Given the description of an element on the screen output the (x, y) to click on. 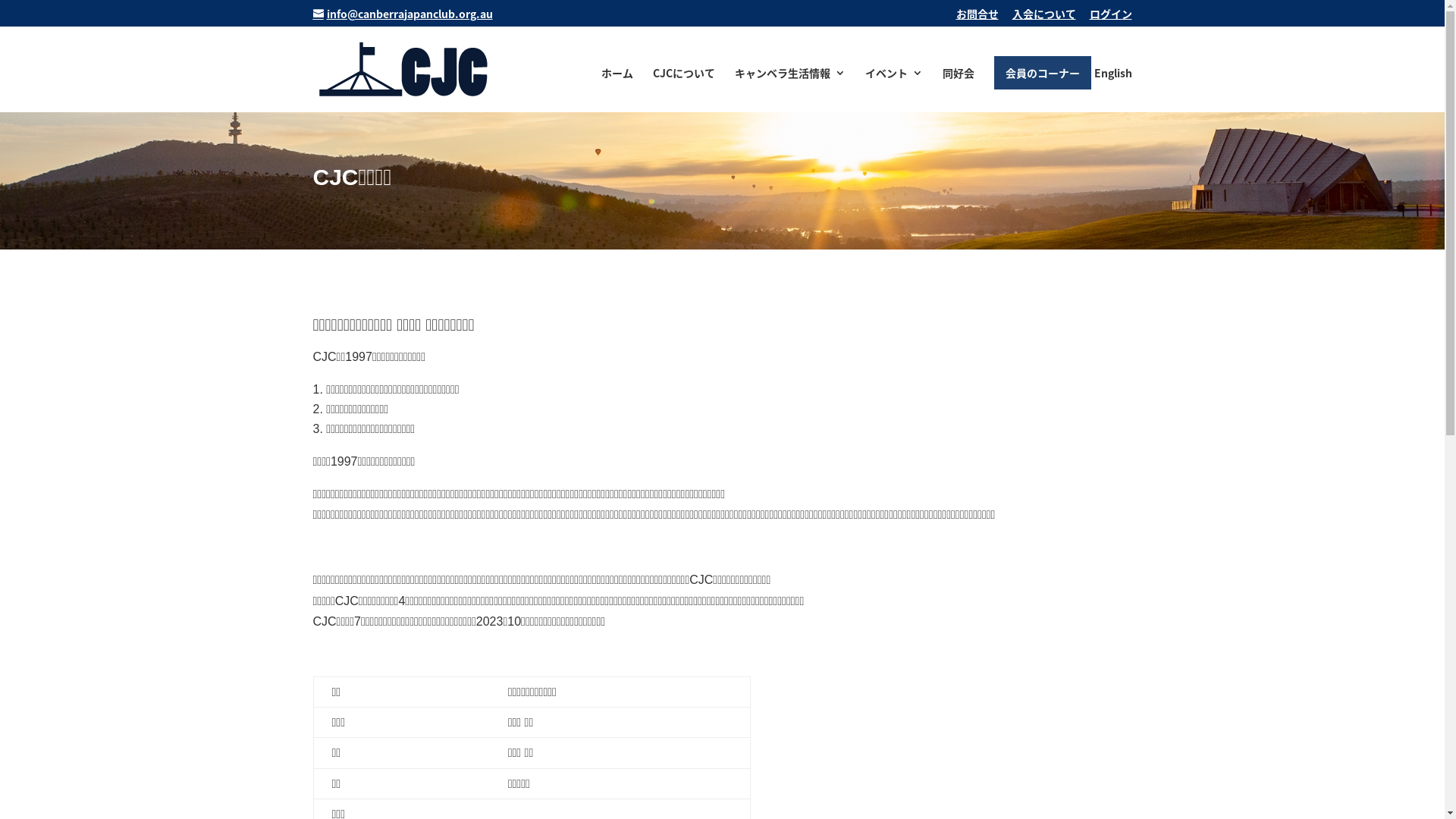
English Element type: text (1112, 87)
info@canberrajapanclub.org.au Element type: text (402, 13)
